Given the description of an element on the screen output the (x, y) to click on. 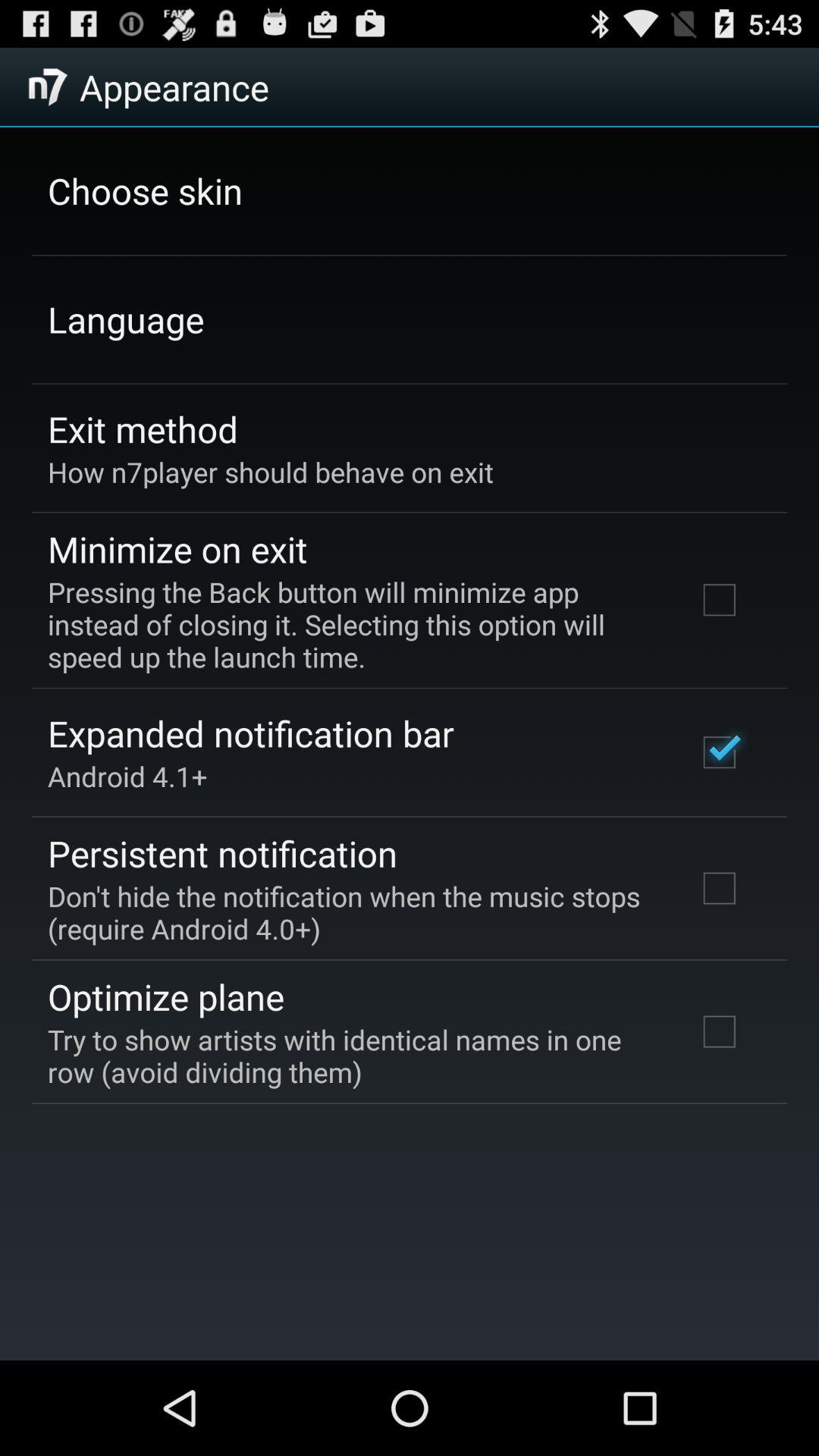
press app below the minimize on exit app (351, 624)
